Given the description of an element on the screen output the (x, y) to click on. 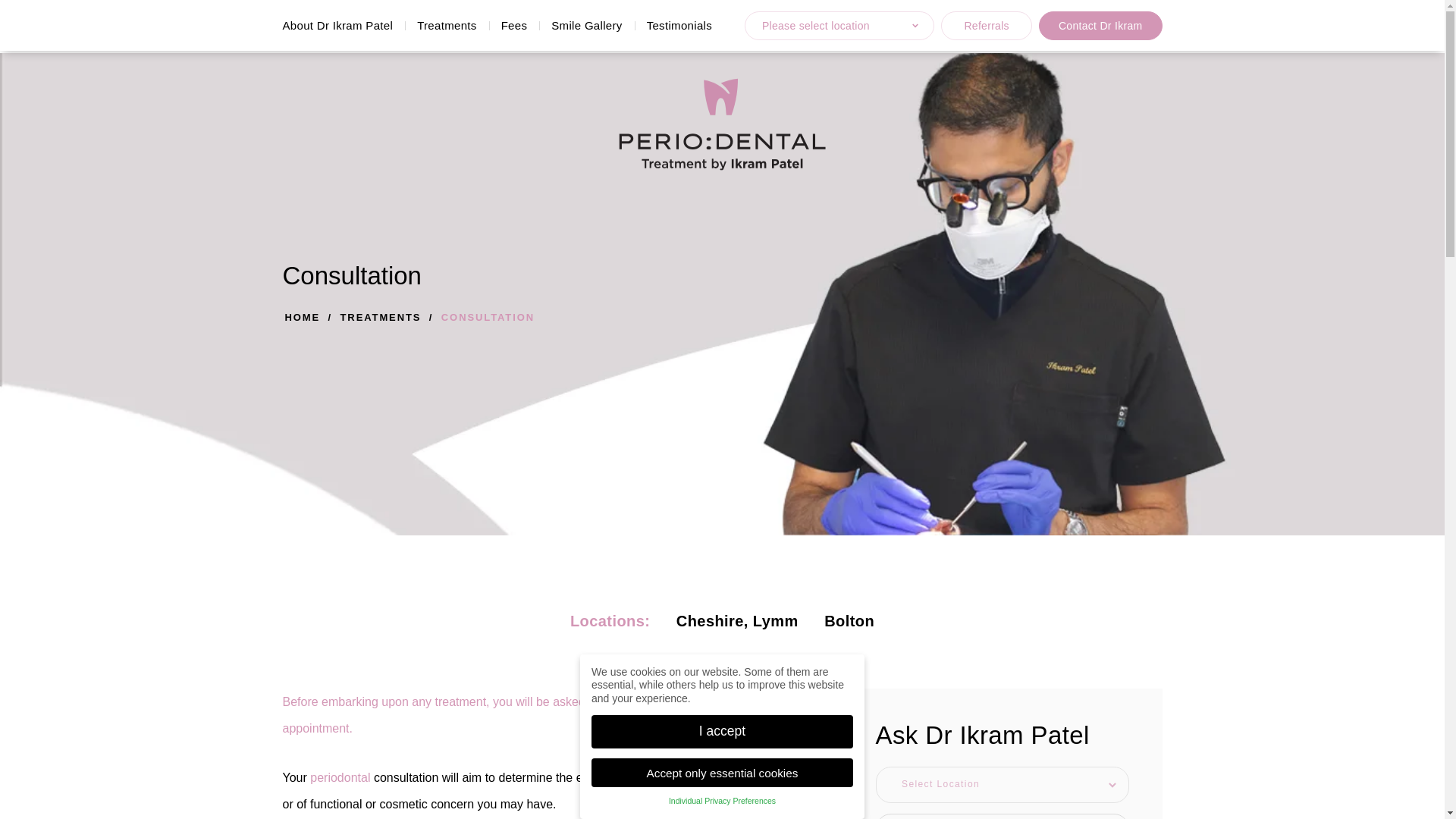
TREATMENTS (381, 317)
HOME (302, 317)
Contact Dr Ikram (1100, 23)
Fees (514, 18)
periodontal (339, 777)
Cheshire, Lymm (737, 620)
About Dr Ikram Patel (343, 16)
Periodontal (339, 777)
perio-dental-expert-gum-treatment-by-ikram-patel-logo (722, 123)
Bolton (849, 620)
Smile Gallery (585, 20)
Testimonials (678, 21)
Treatments (446, 18)
Referrals (986, 22)
